Given the description of an element on the screen output the (x, y) to click on. 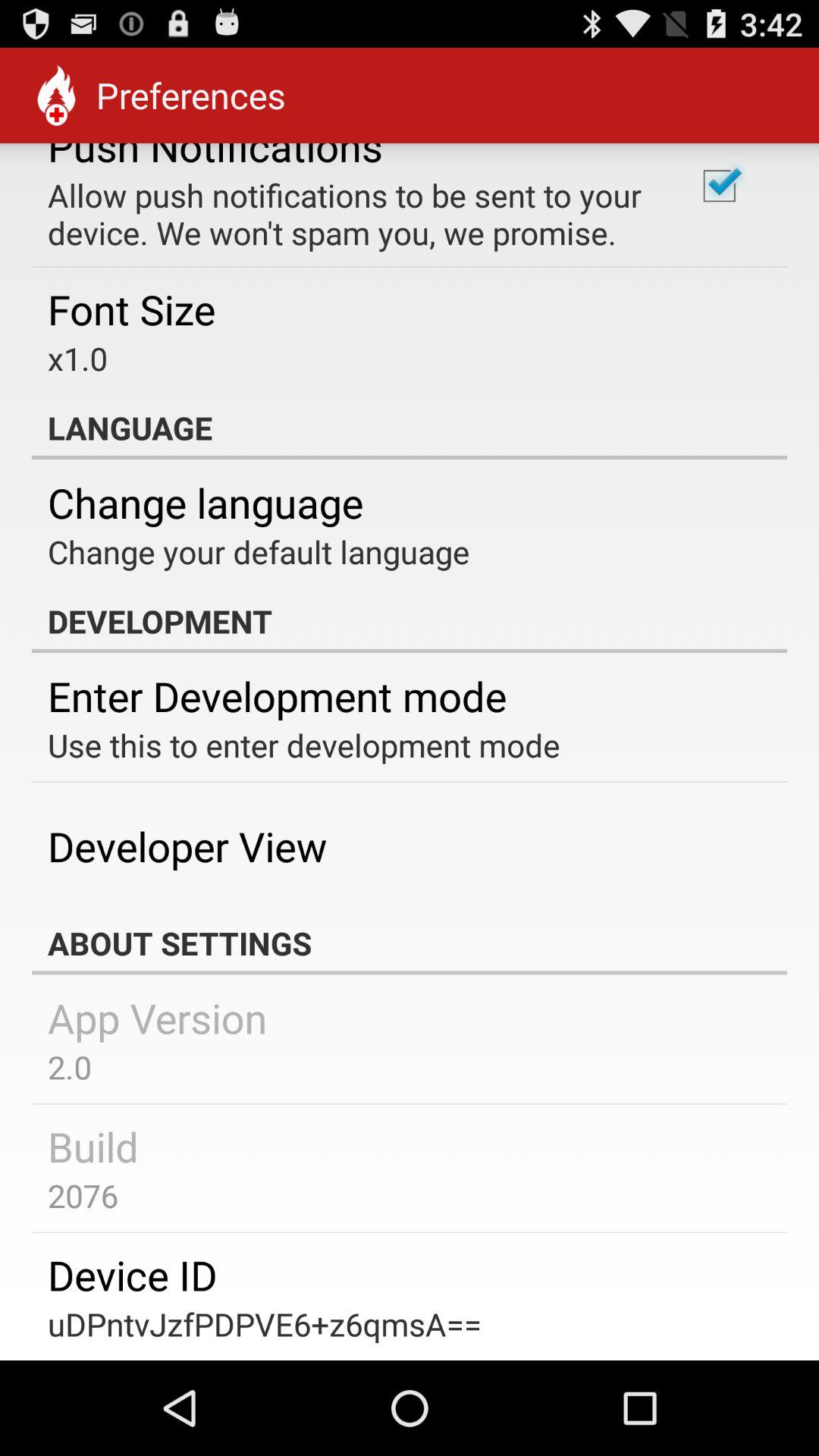
click item below the use this to app (187, 845)
